Given the description of an element on the screen output the (x, y) to click on. 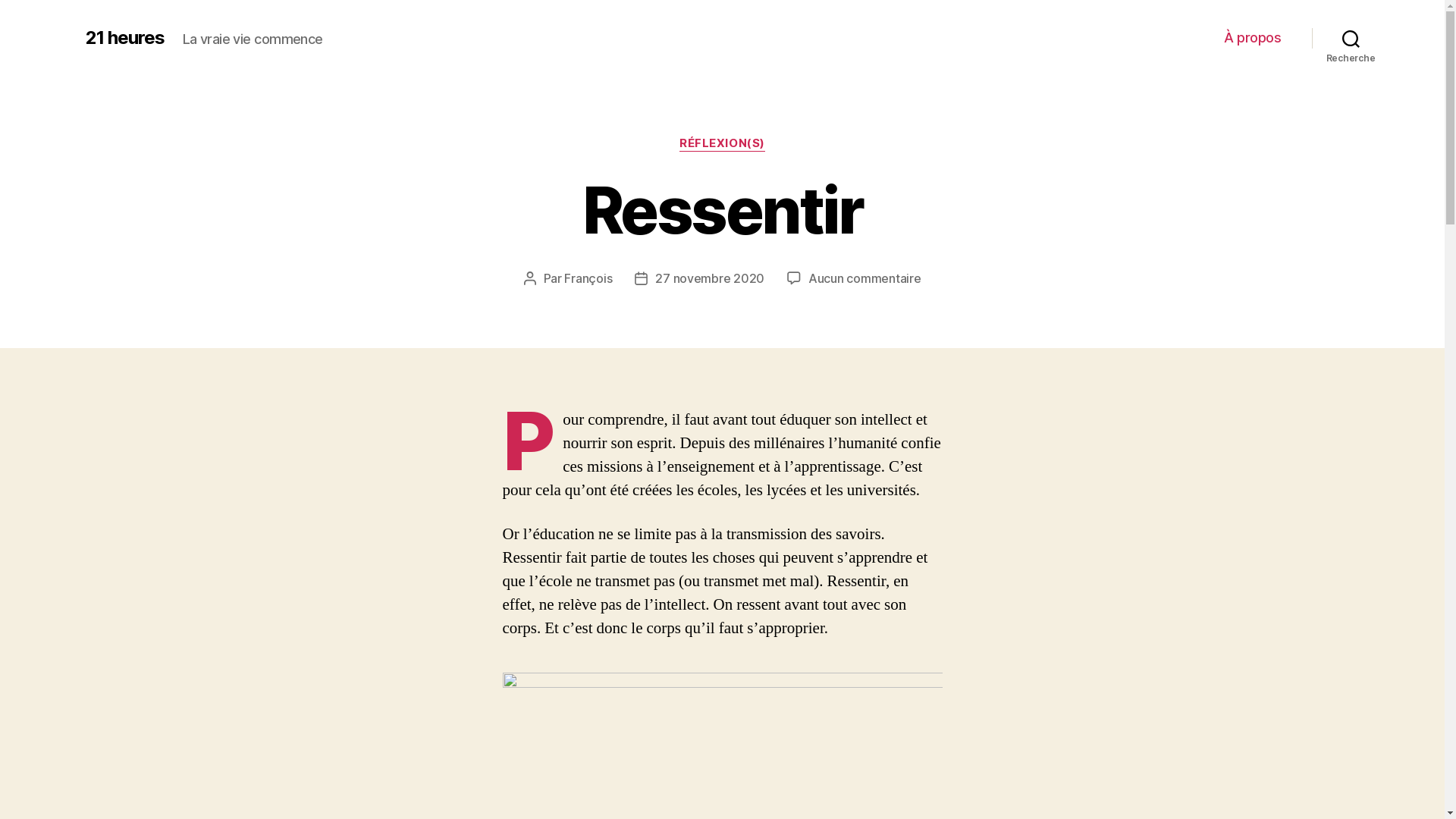
Recherche Element type: text (1350, 37)
21 heures Element type: text (123, 37)
Aucun commentaire
sur Ressentir Element type: text (864, 277)
27 novembre 2020 Element type: text (709, 277)
